Given the description of an element on the screen output the (x, y) to click on. 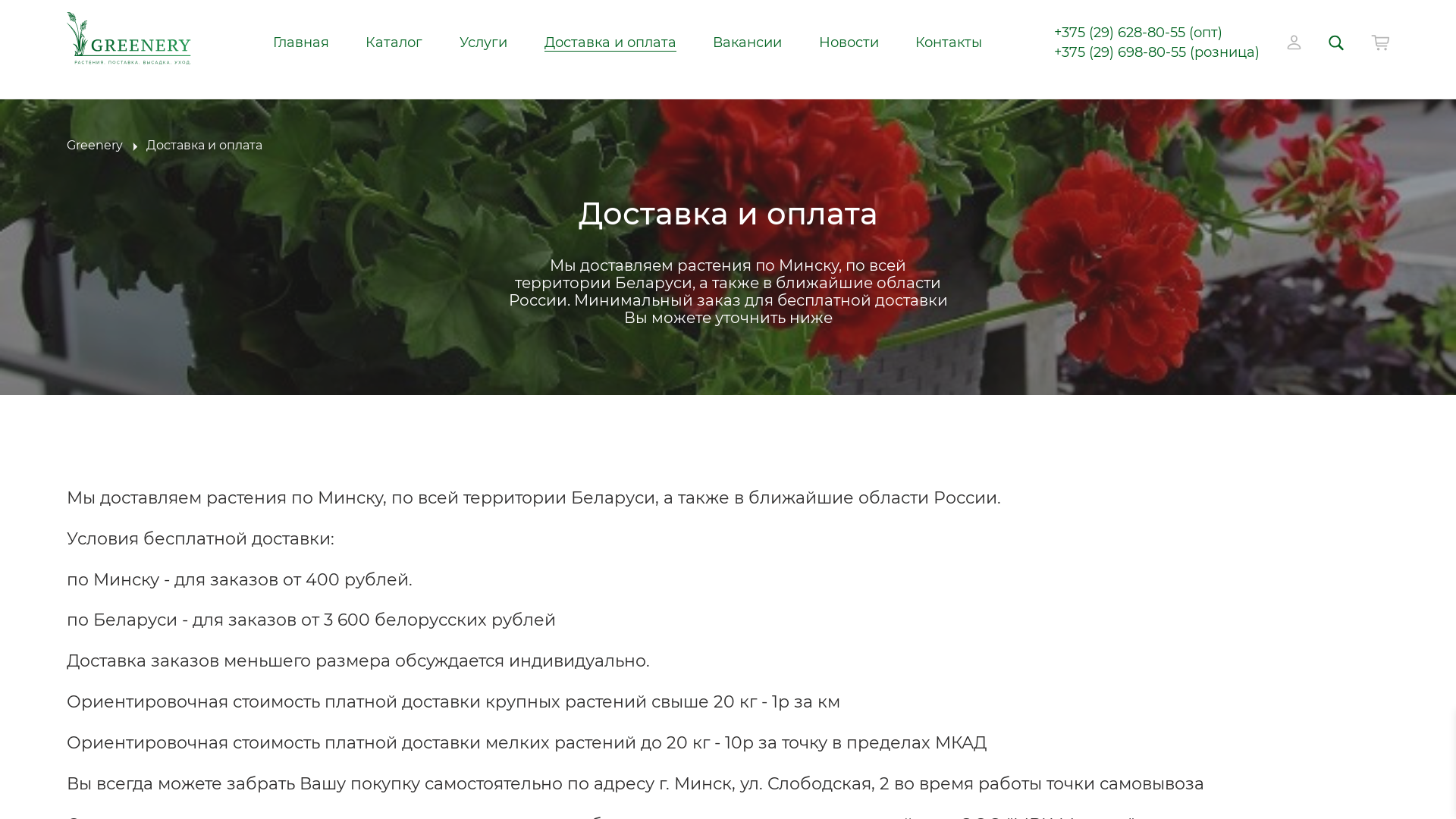
Greenery Element type: text (94, 145)
